Given the description of an element on the screen output the (x, y) to click on. 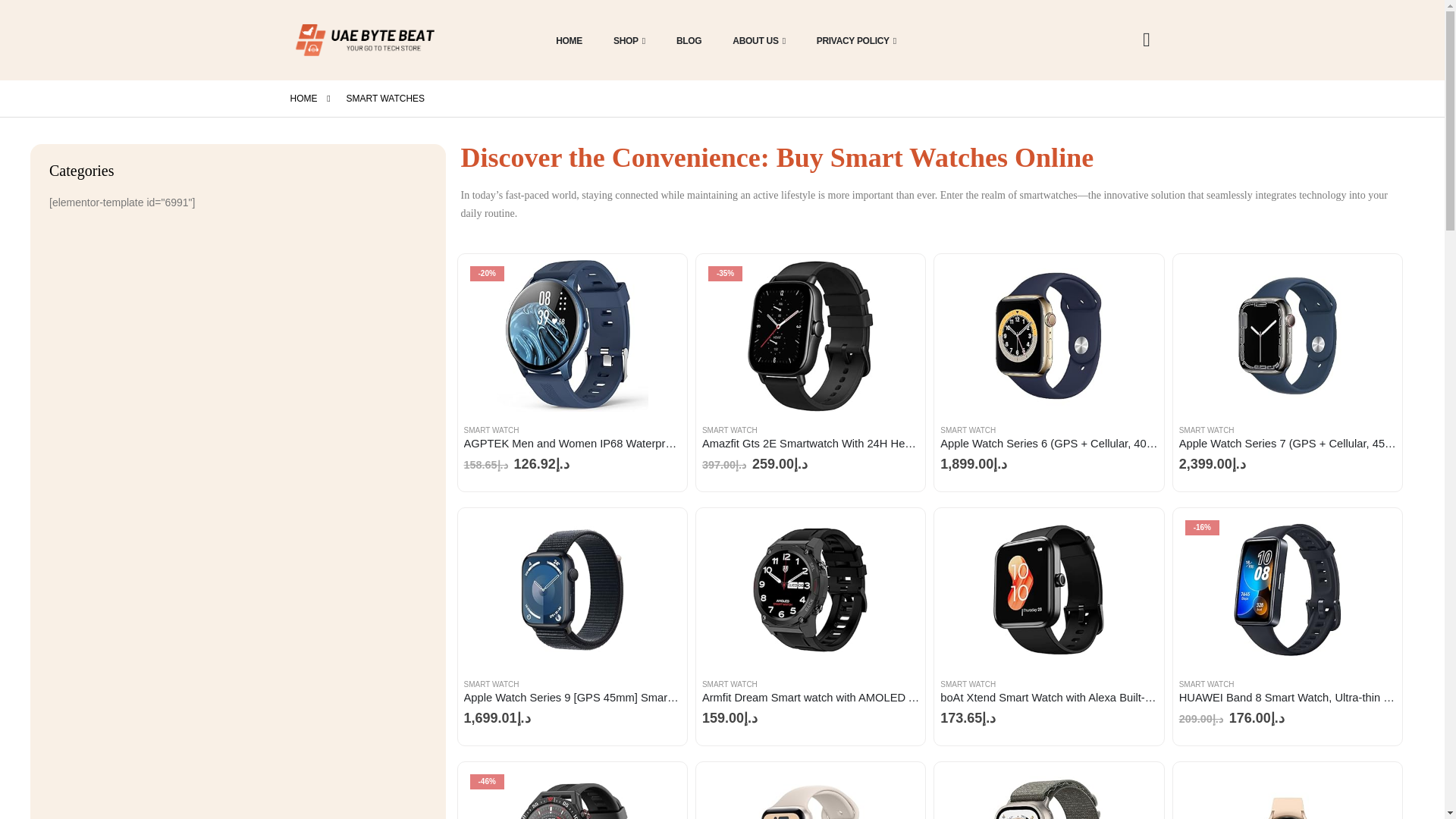
ABOUT US (754, 39)
HOME (564, 39)
SHOP (625, 39)
HOME (303, 98)
PRIVACY POLICY (853, 39)
Go to Home Page (303, 98)
SMART WATCH (491, 429)
BLOG (685, 39)
SMART WATCH (967, 429)
SMART WATCH (729, 429)
SMART WATCH (1206, 429)
UAE Byte Beat - Quality Store (365, 39)
